Given the description of an element on the screen output the (x, y) to click on. 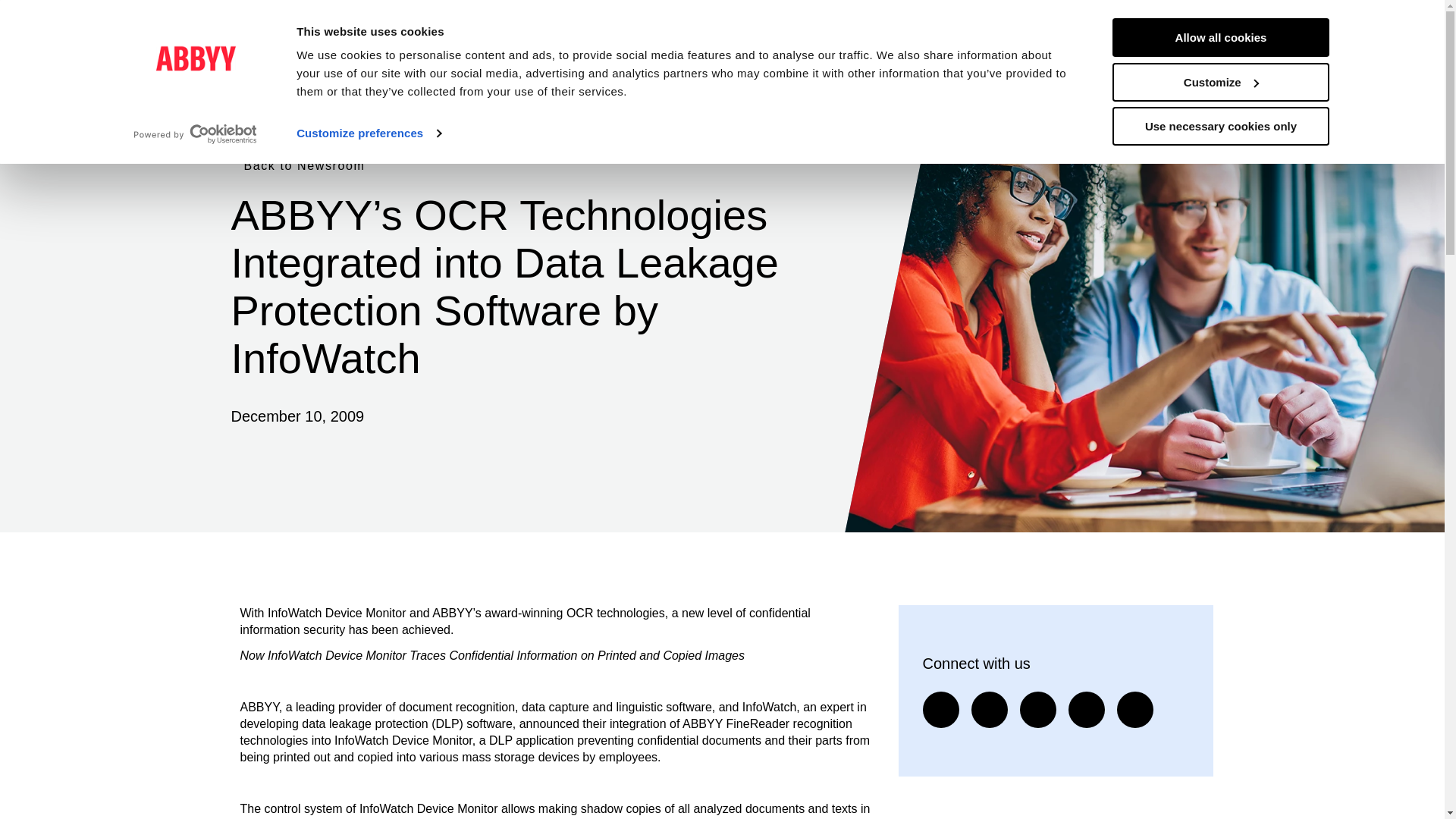
Customize preferences (369, 133)
